Given the description of an element on the screen output the (x, y) to click on. 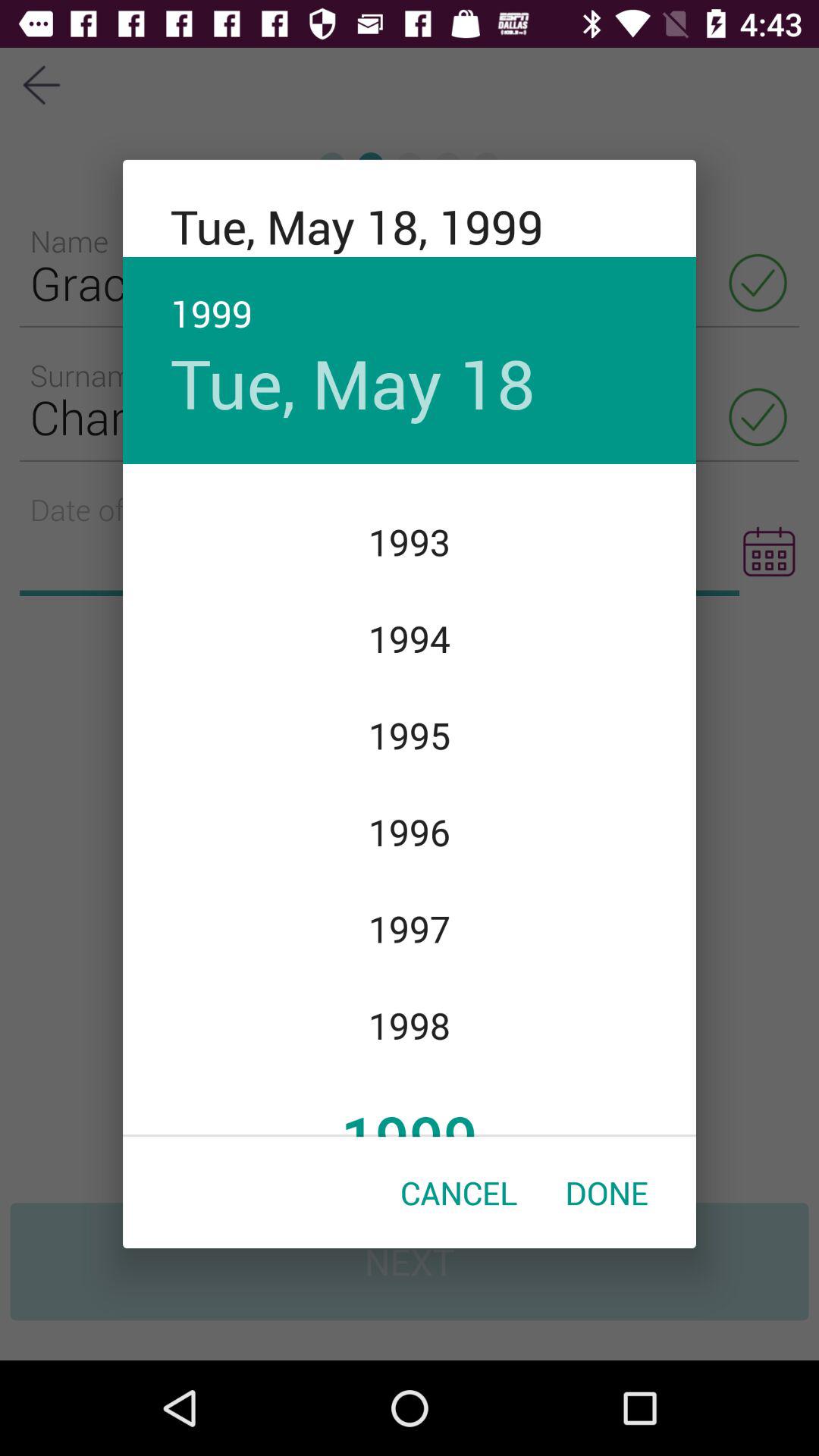
press item at the bottom right corner (606, 1192)
